Given the description of an element on the screen output the (x, y) to click on. 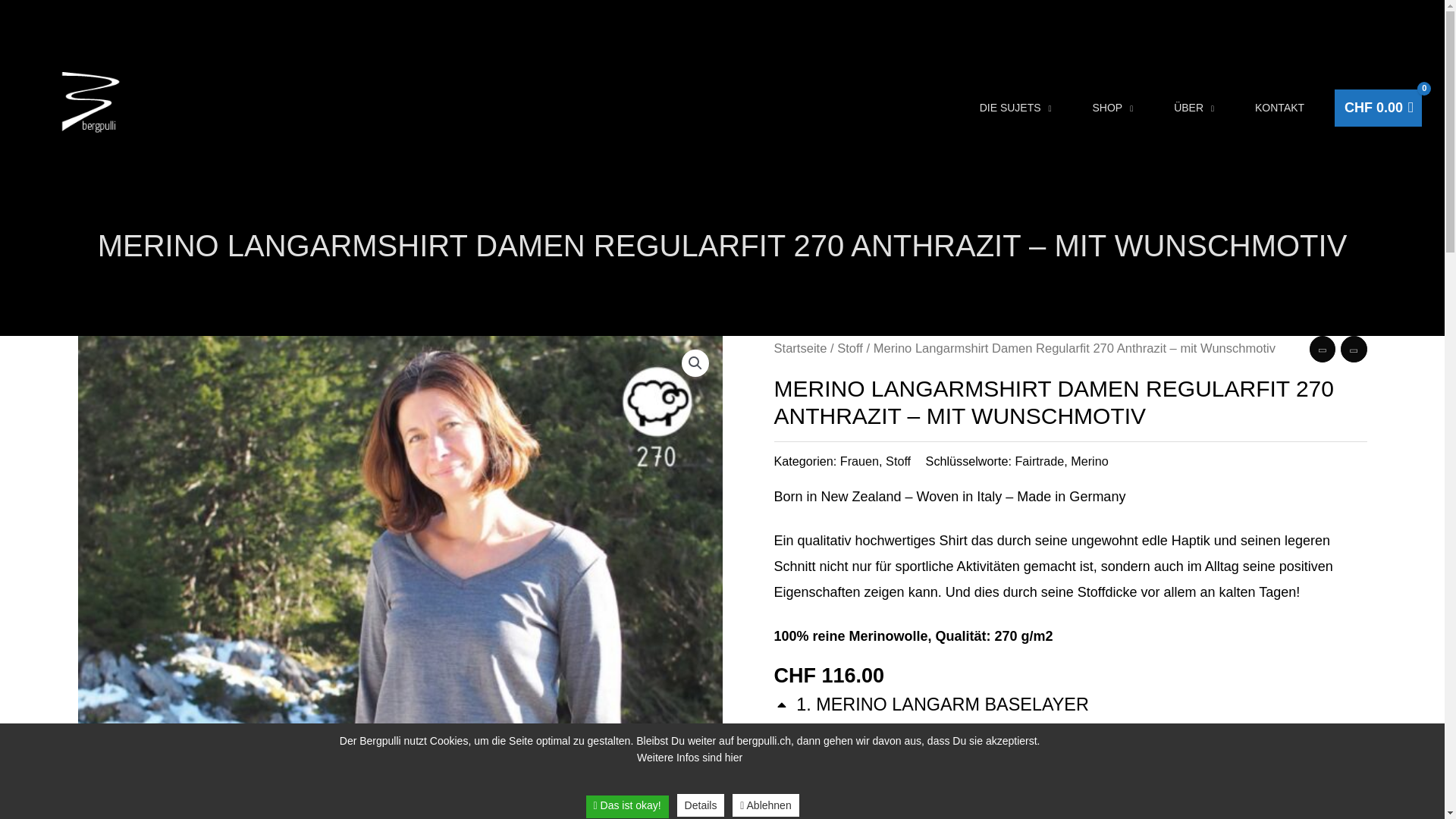
DIE SUJETS Element type: text (1025, 107)
sind hier Element type: text (722, 757)
Frauen Element type: text (859, 460)
Fairtrade Element type: text (1038, 460)
Startseite Element type: text (799, 348)
CHF 0.00 Element type: text (1377, 107)
Merino Element type: text (1088, 460)
Stoff Element type: text (849, 348)
KONTAKT Element type: text (1289, 107)
Stoff Element type: text (897, 460)
SHOP Element type: text (1123, 107)
Details Element type: text (700, 804)
